Given the description of an element on the screen output the (x, y) to click on. 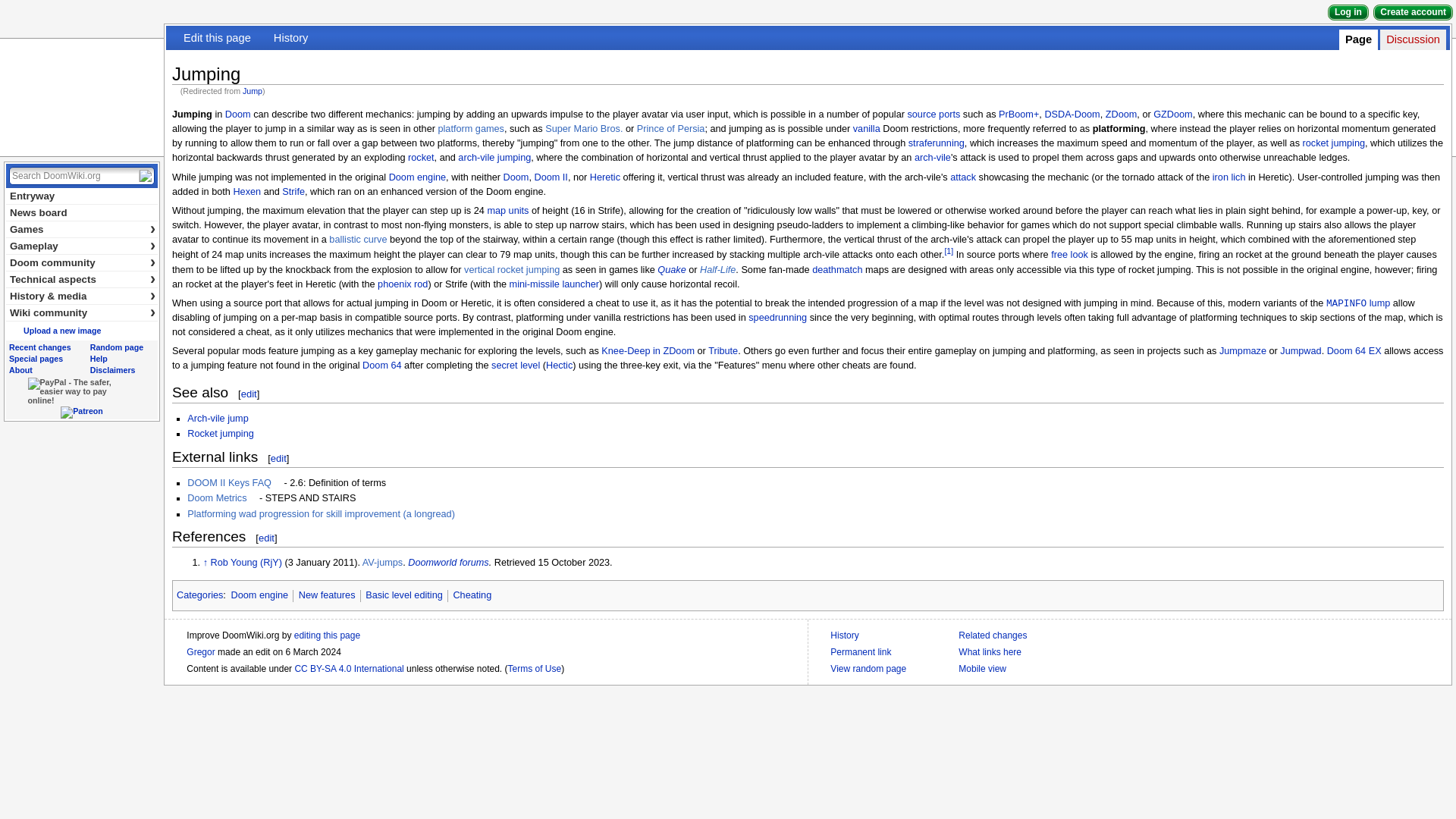
rocket jumping (1334, 143)
source ports (933, 113)
rocket (420, 157)
free look (1069, 254)
Log in (1347, 11)
ballistic curve (358, 239)
ZDoom (1121, 113)
Super Mario Bros. (583, 128)
ZDoom (1121, 113)
Doom II (550, 176)
Doom (237, 113)
Quake (671, 269)
Jump (252, 90)
Discussion (1412, 39)
DSDA-Doom (1071, 113)
